Given the description of an element on the screen output the (x, y) to click on. 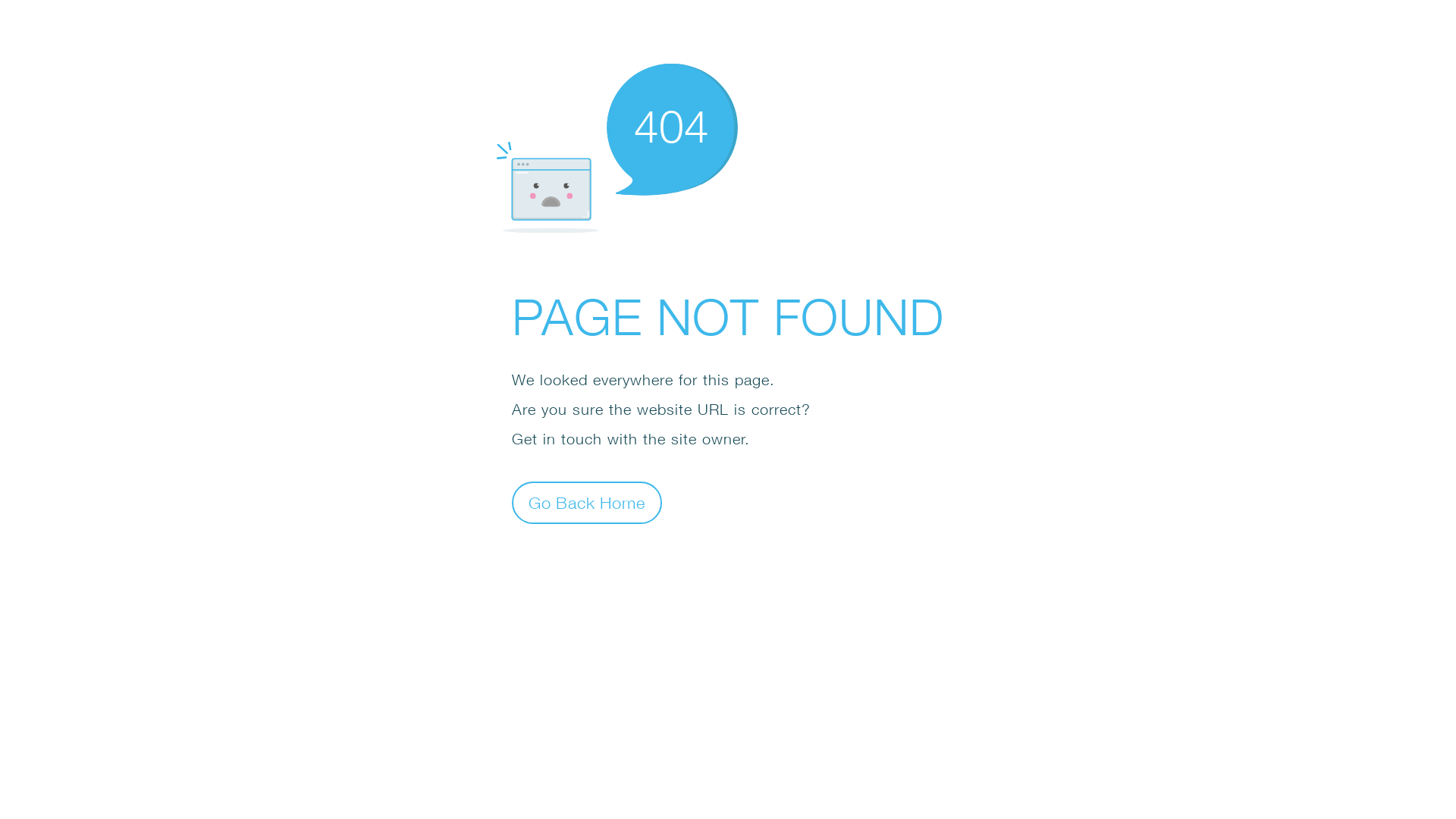
Go Back Home Element type: text (586, 502)
